Given the description of an element on the screen output the (x, y) to click on. 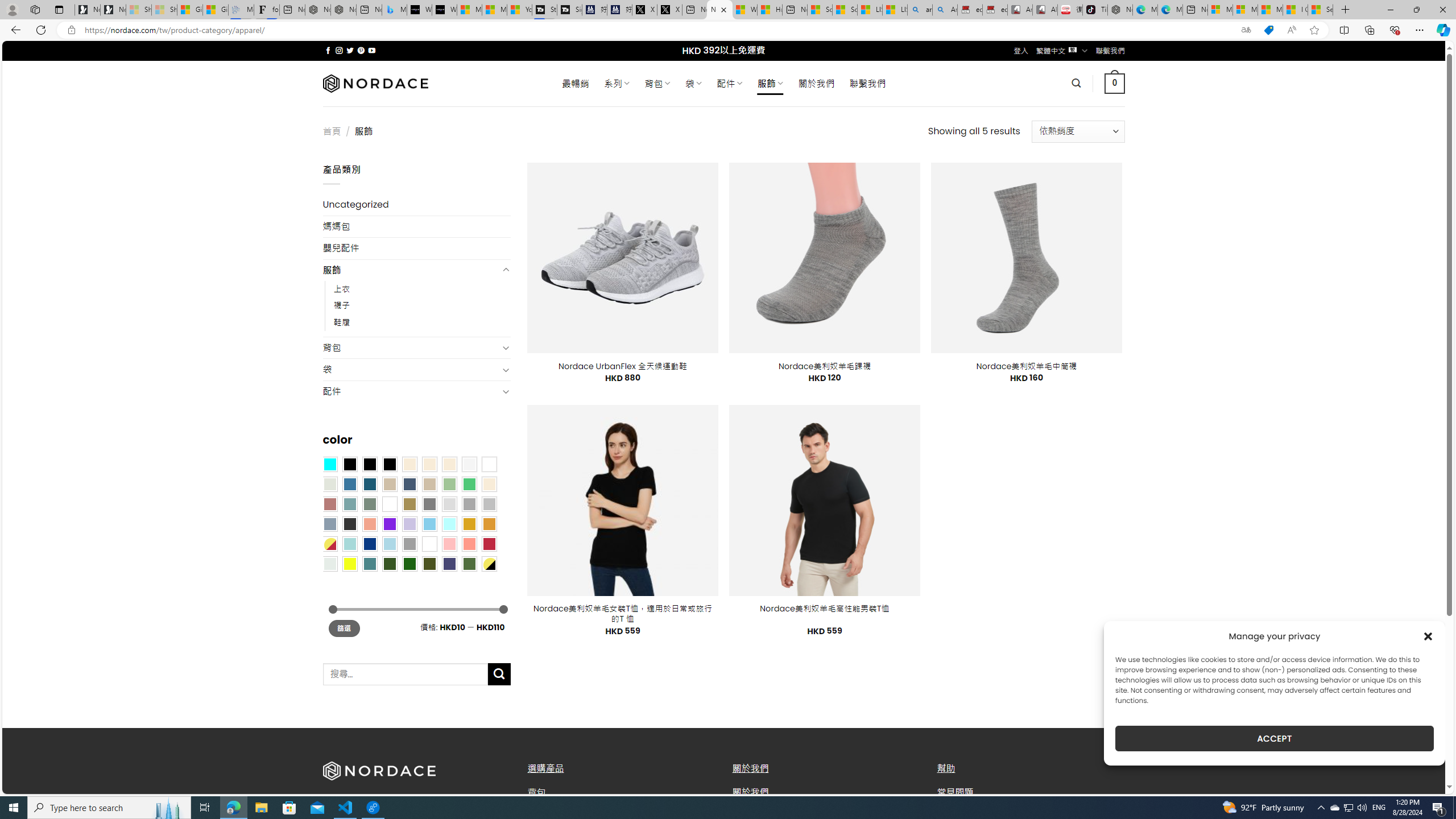
 0  (1115, 83)
Microsoft account | Privacy (1244, 9)
Nordace - #1 Japanese Best-Seller - Siena Smart Backpack (343, 9)
Amazon Echo Dot PNG - Search Images (944, 9)
